Given the description of an element on the screen output the (x, y) to click on. 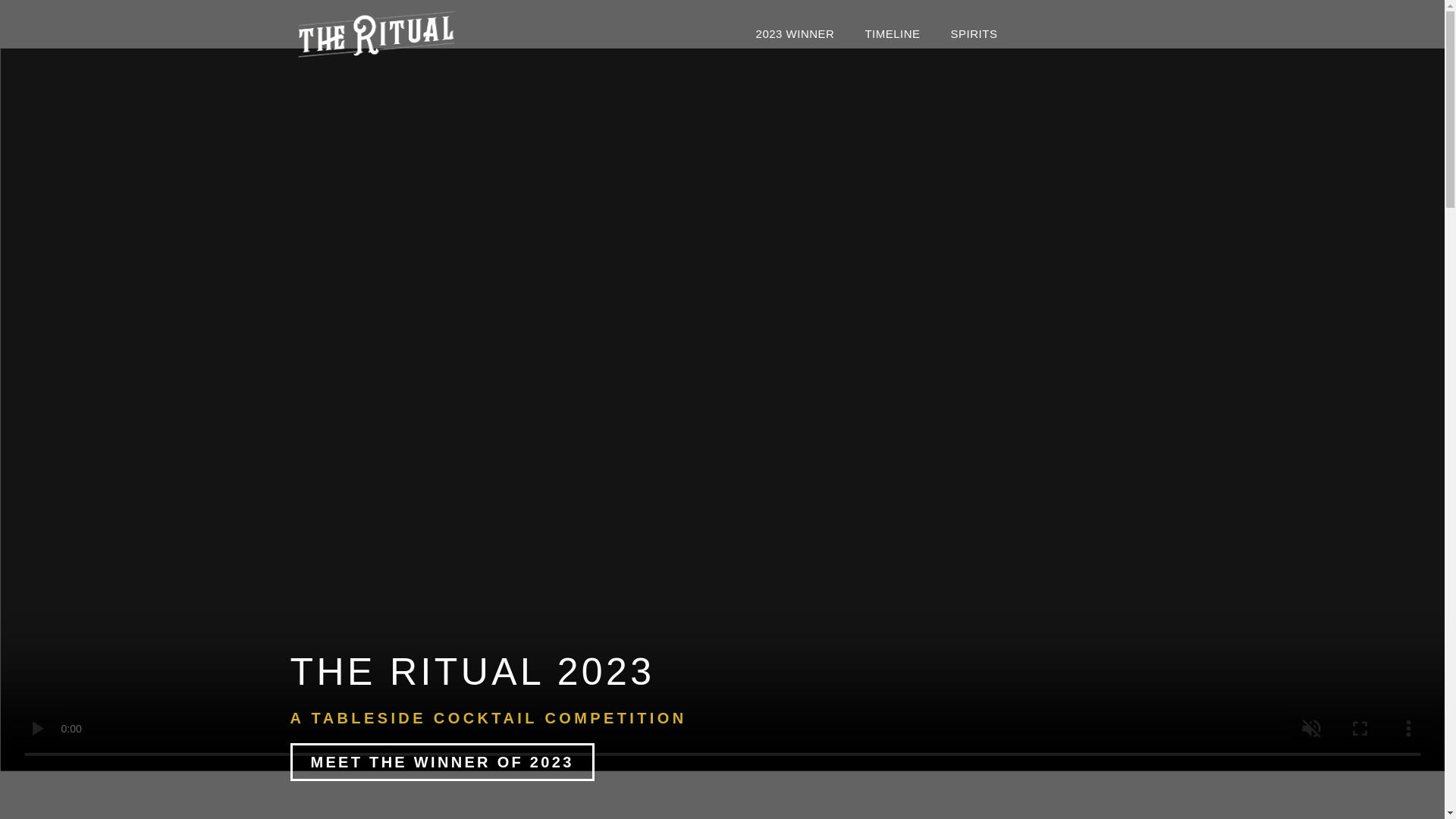
SPIRITS (974, 11)
MEET THE WINNER OF 2023 (441, 761)
TIMELINE (891, 11)
2023 WINNER (795, 10)
